Given the description of an element on the screen output the (x, y) to click on. 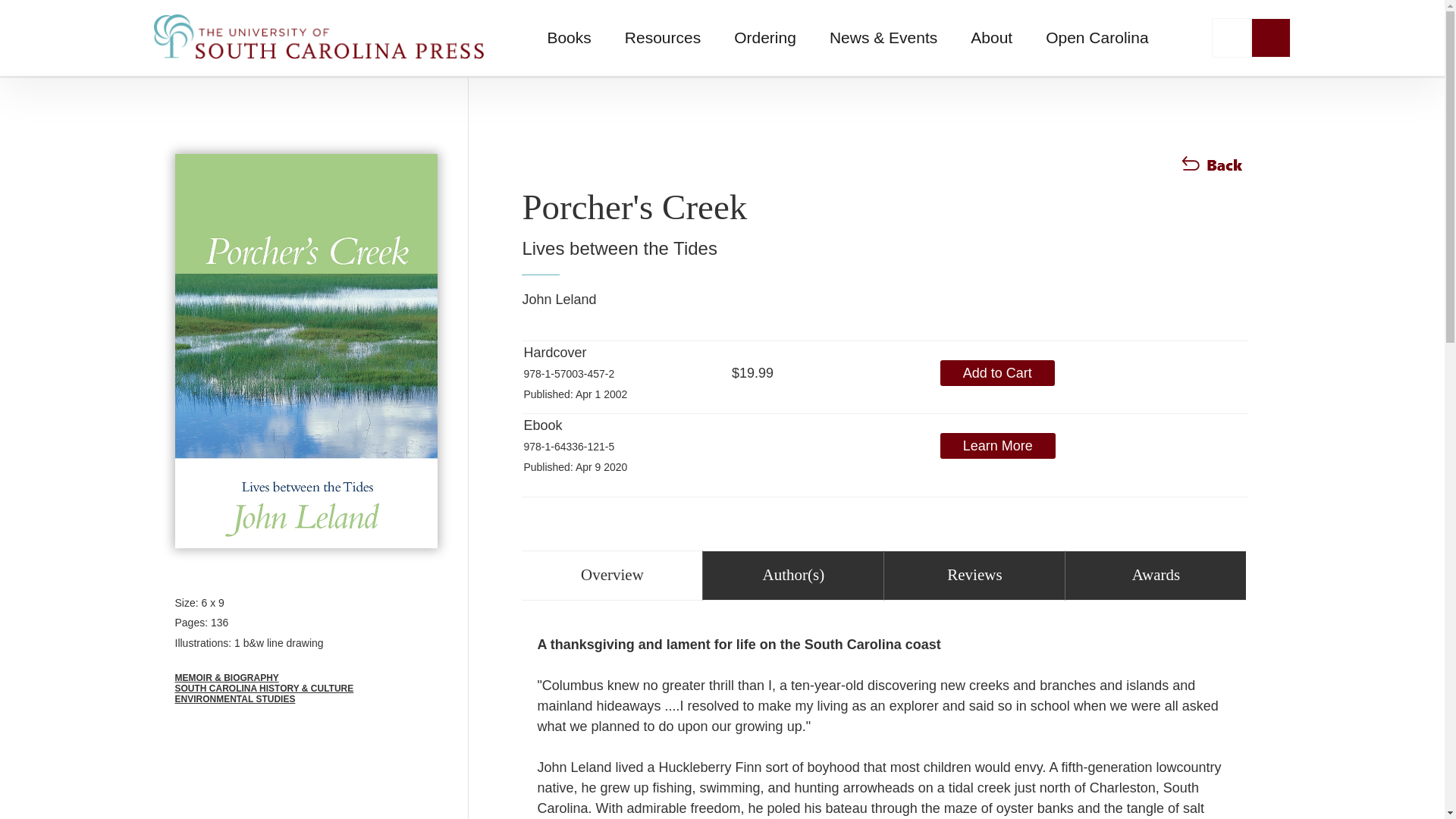
Ordering (764, 38)
About (991, 38)
Return to the previous page (1213, 171)
Open Carolina (1096, 38)
Resources (662, 38)
Books (568, 38)
